Given the description of an element on the screen output the (x, y) to click on. 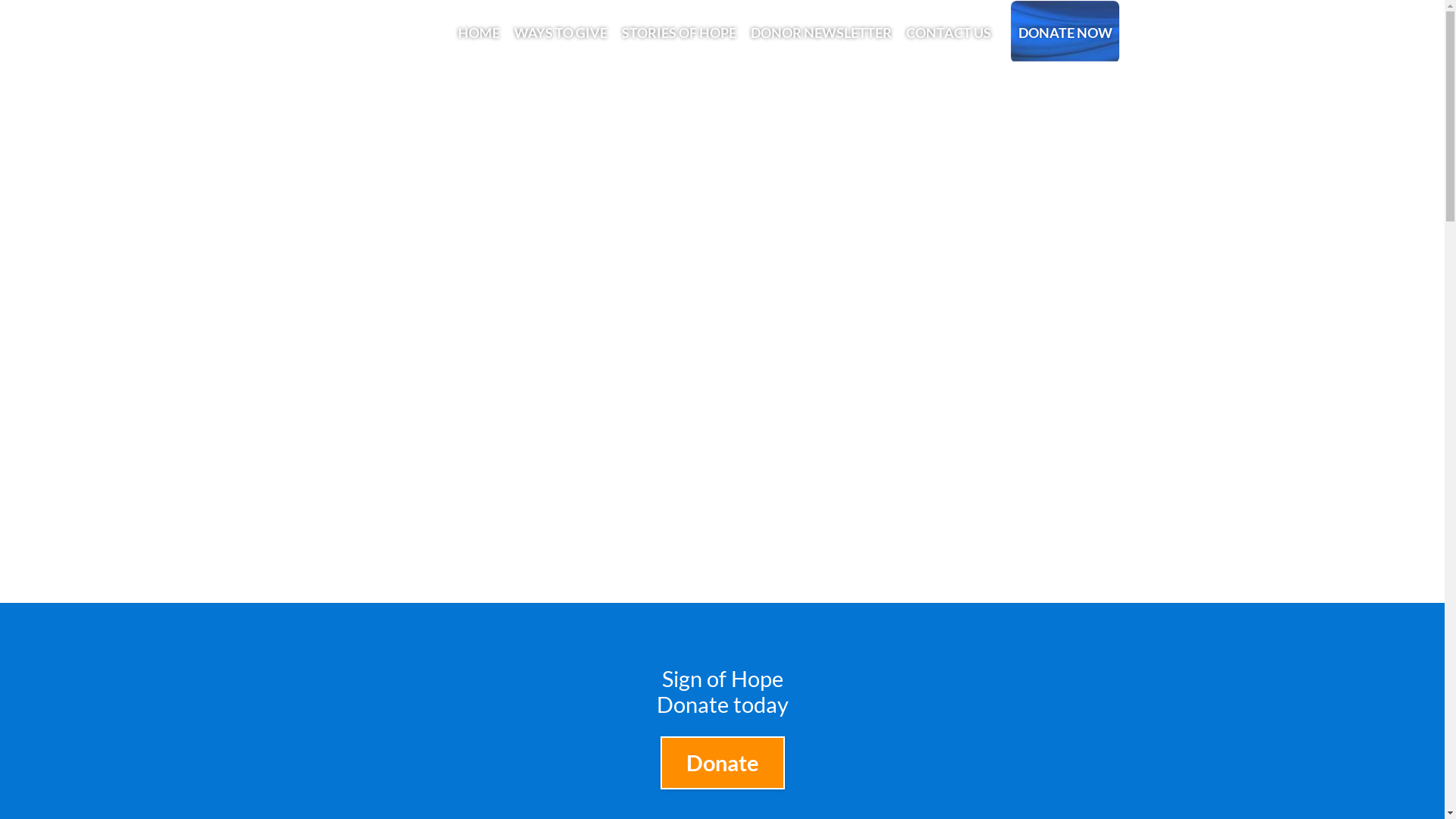
HOME Element type: text (478, 31)
CONTACT US Element type: text (948, 31)
DONOR NEWSLETTER Element type: text (821, 31)
Donate Element type: text (721, 763)
WAYS TO GIVE Element type: text (560, 31)
STORIES OF HOPE Element type: text (678, 31)
DONATE NOW Element type: text (1064, 31)
